Given the description of an element on the screen output the (x, y) to click on. 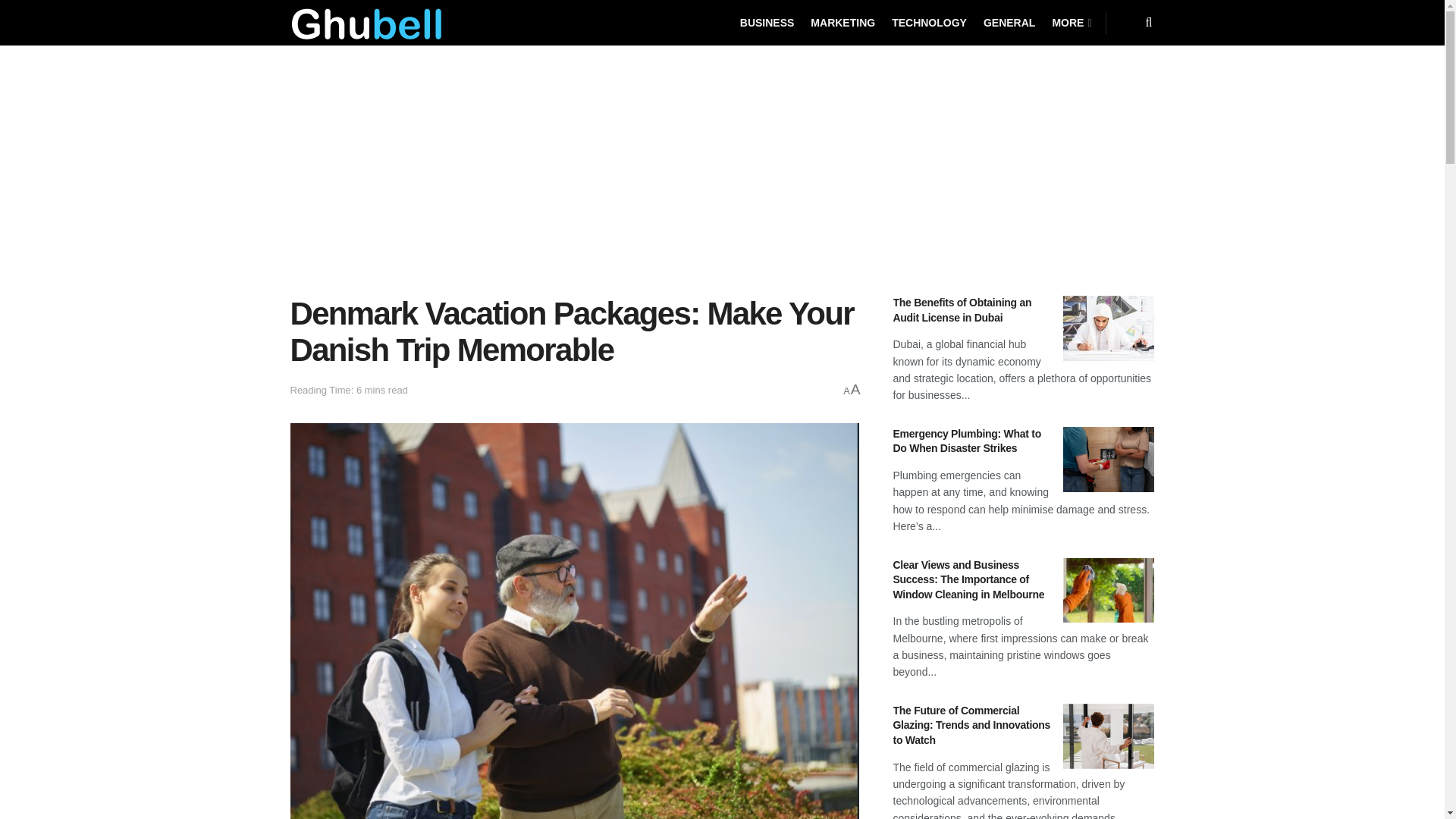
BUSINESS (766, 22)
MARKETING (842, 22)
TECHNOLOGY (928, 22)
GENERAL (1009, 22)
